Given the description of an element on the screen output the (x, y) to click on. 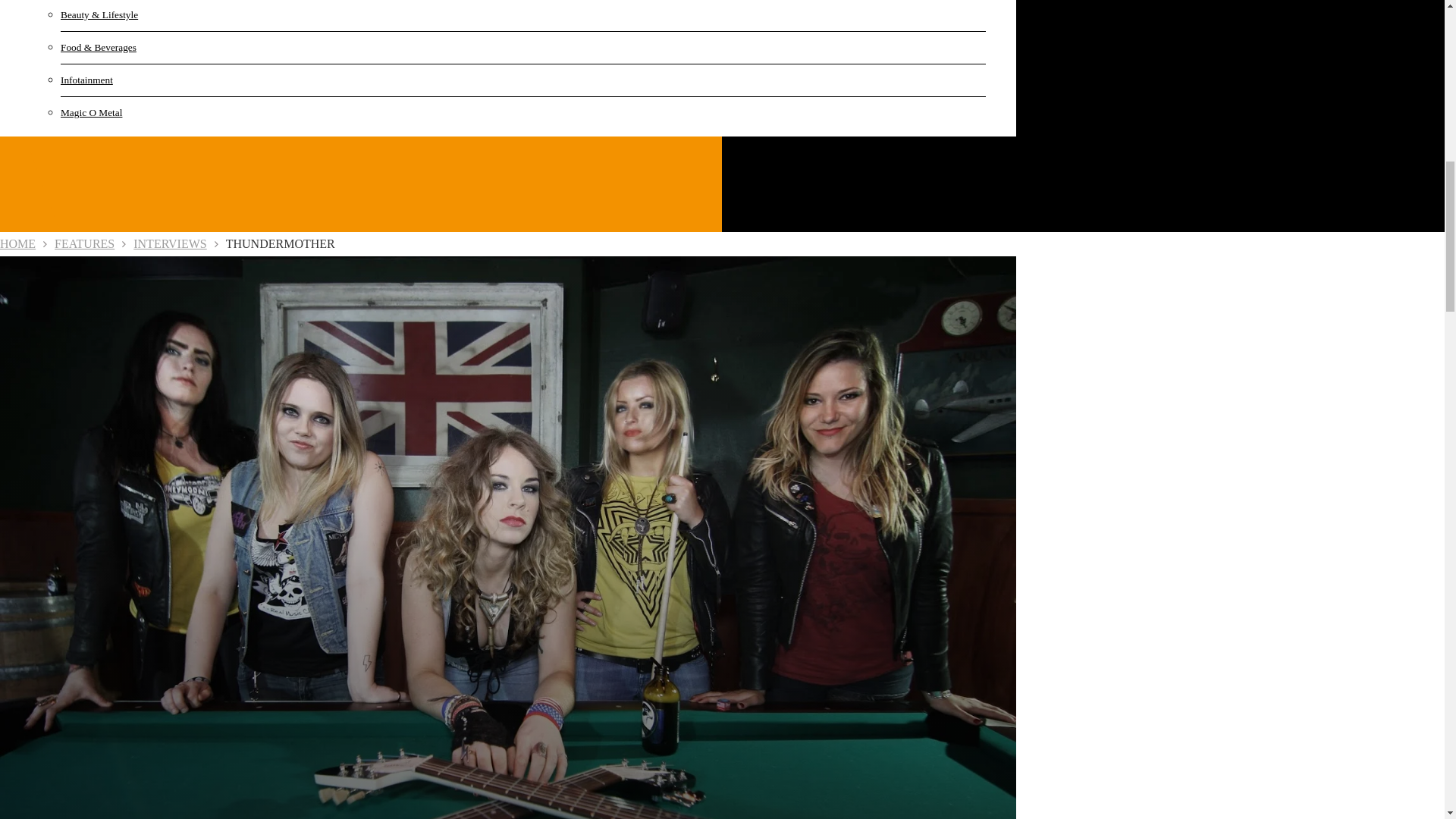
HOME (17, 243)
Magic O Metal (136, 112)
INTERVIEWS (169, 243)
FEATURES (85, 243)
Search (1275, 95)
Infotainment (136, 80)
